Given the description of an element on the screen output the (x, y) to click on. 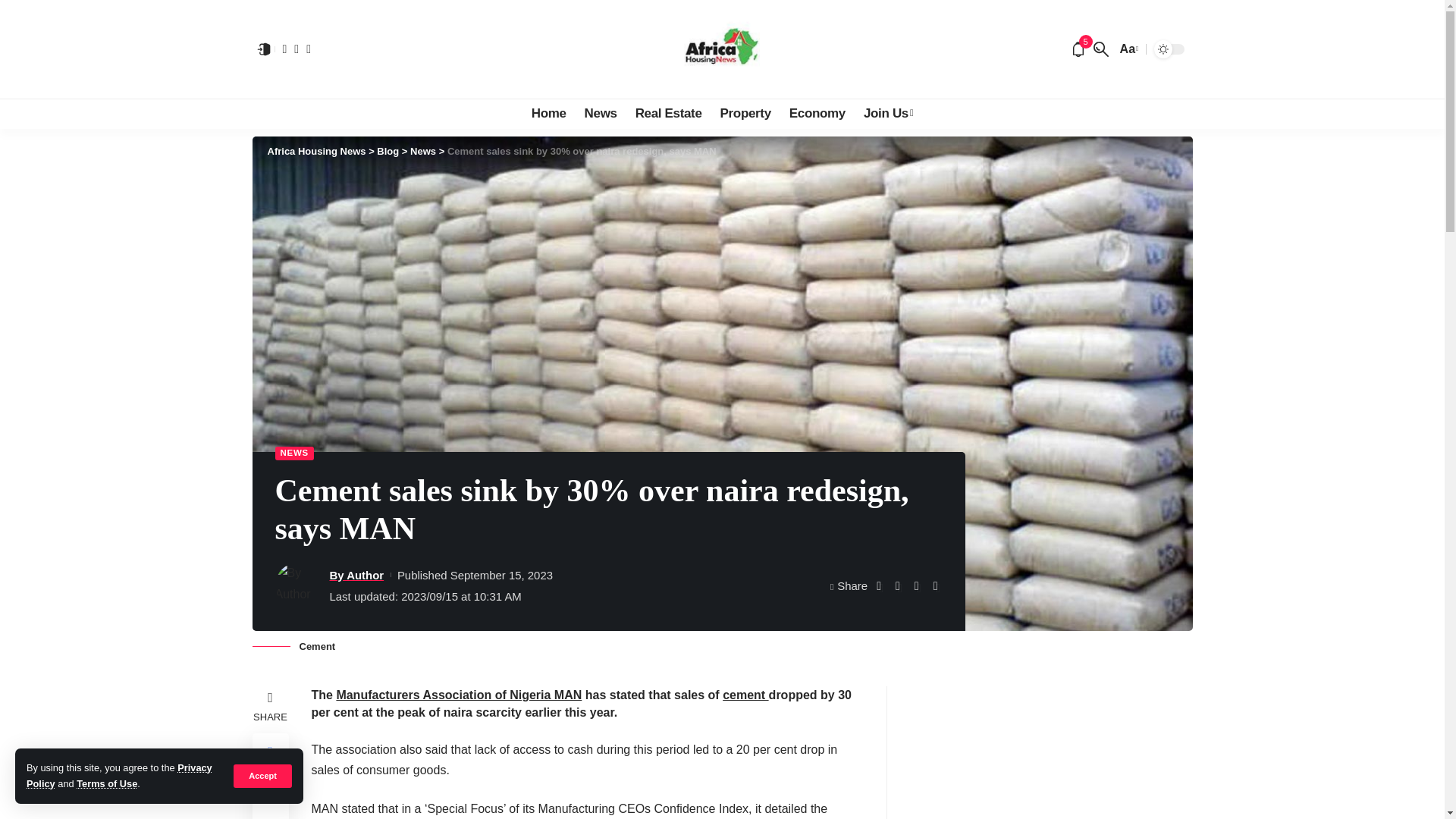
Africa Housing News (722, 48)
Home (548, 113)
Privacy Policy (119, 775)
News (600, 113)
Economy (817, 113)
5 (1078, 48)
Go to Blog. (387, 151)
Join Us (887, 113)
Go to Africa Housing News. (315, 151)
Accept (262, 775)
Real Estate (668, 113)
Terms of Use (106, 783)
Go to the News Category archives. (422, 151)
Aa (1127, 48)
Property (745, 113)
